Given the description of an element on the screen output the (x, y) to click on. 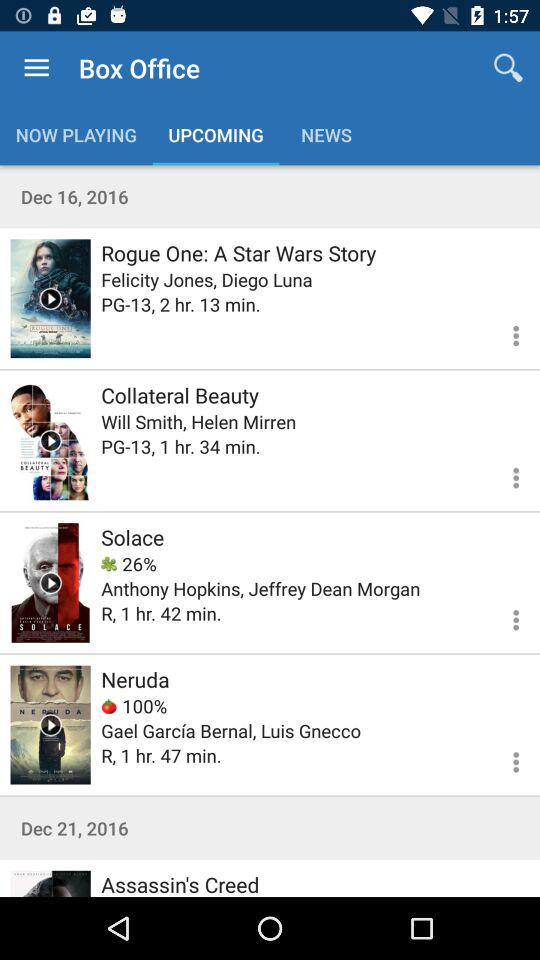
view the details about the movie (503, 332)
